Given the description of an element on the screen output the (x, y) to click on. 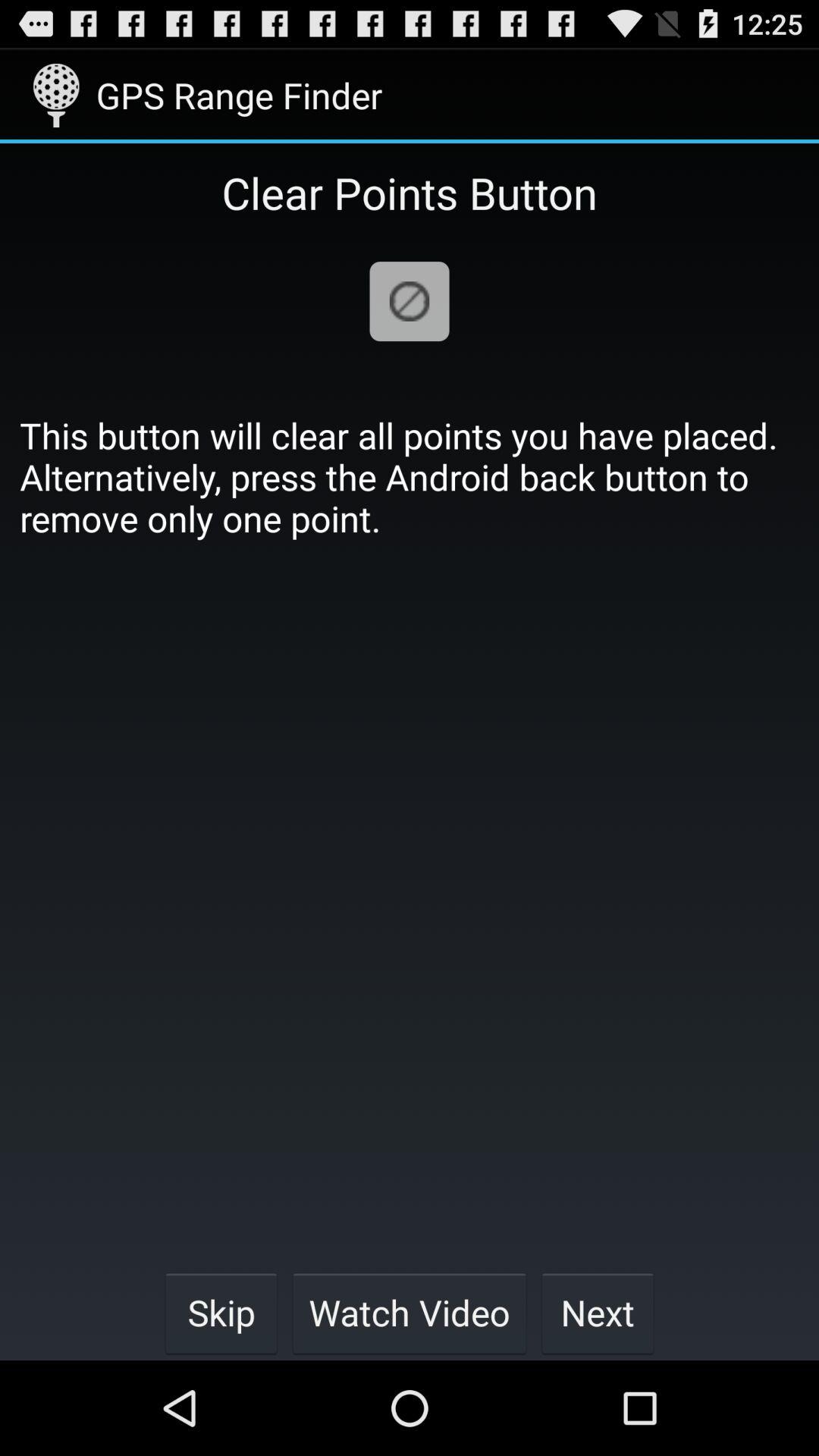
flip to watch video item (409, 1312)
